Given the description of an element on the screen output the (x, y) to click on. 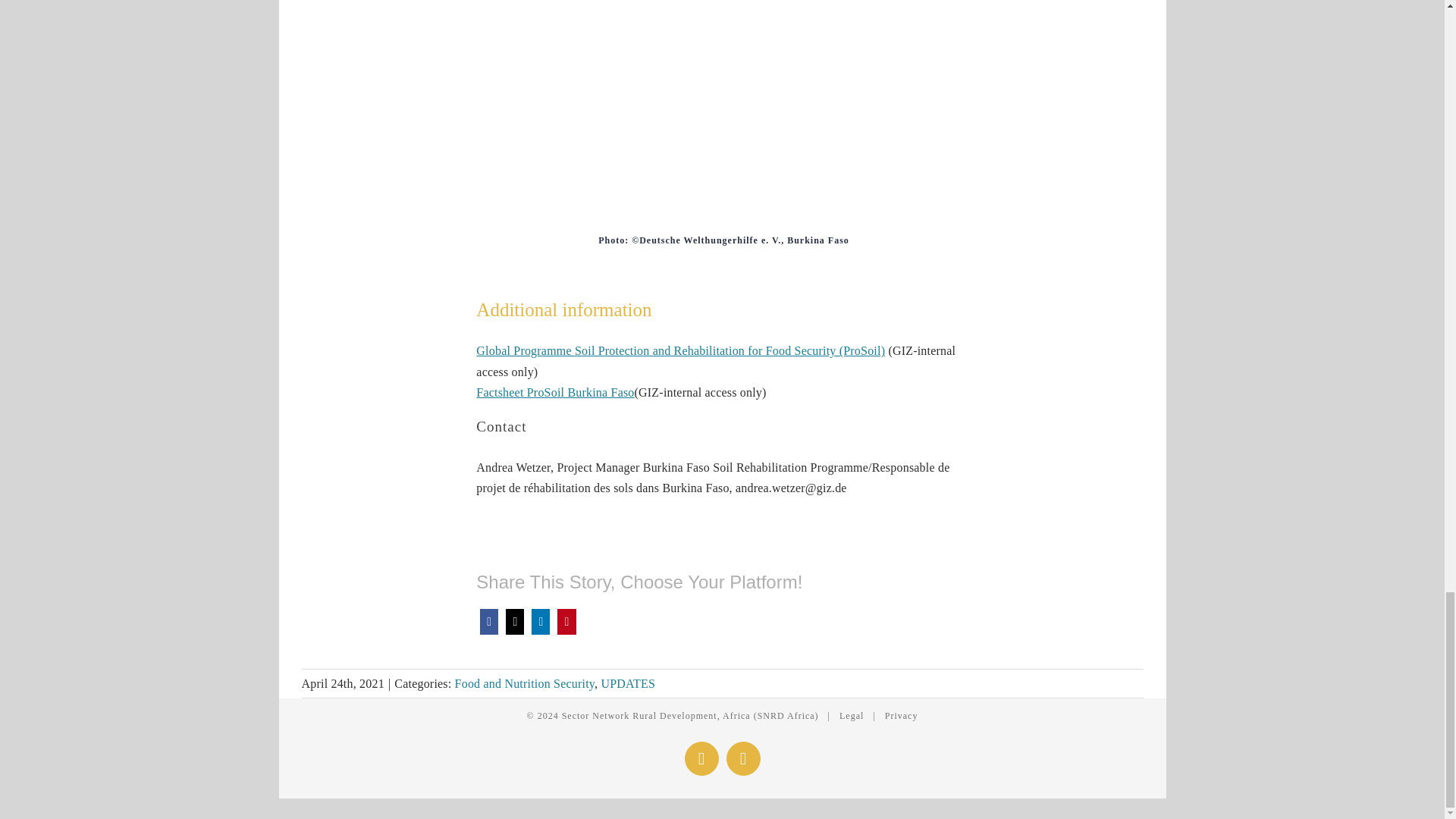
Facebook (489, 621)
Bildschirmfoto 2021-05-04 um 15.39.20 (722, 116)
Privacy (901, 715)
UPDATES (627, 683)
Factsheet ProSoil Burkina Faso (554, 391)
Food and Nutrition Security (524, 683)
X (514, 621)
LinkedIn (540, 621)
Pinterest (566, 621)
Email (743, 758)
YouTube (700, 758)
Legal (851, 715)
Page 2 (722, 240)
